Given the description of an element on the screen output the (x, y) to click on. 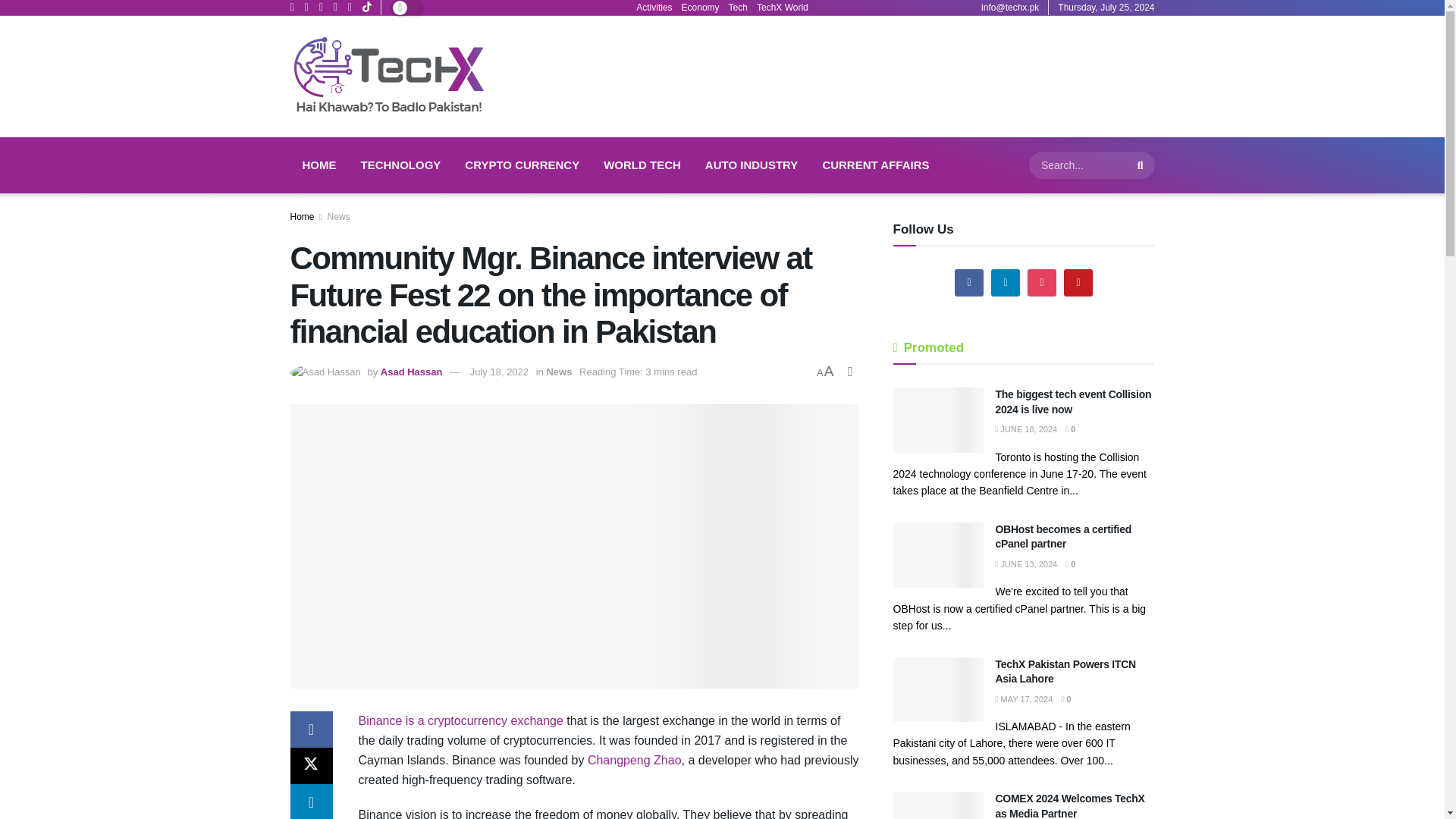
WORLD TECH (642, 165)
CRYPTO CURRENCY (521, 165)
Tech (738, 7)
CURRENT AFFAIRS (874, 165)
Economy (700, 7)
TECHNOLOGY (400, 165)
AUTO INDUSTRY (751, 165)
Activities (653, 7)
HOME (318, 165)
TechX World (782, 7)
